Given the description of an element on the screen output the (x, y) to click on. 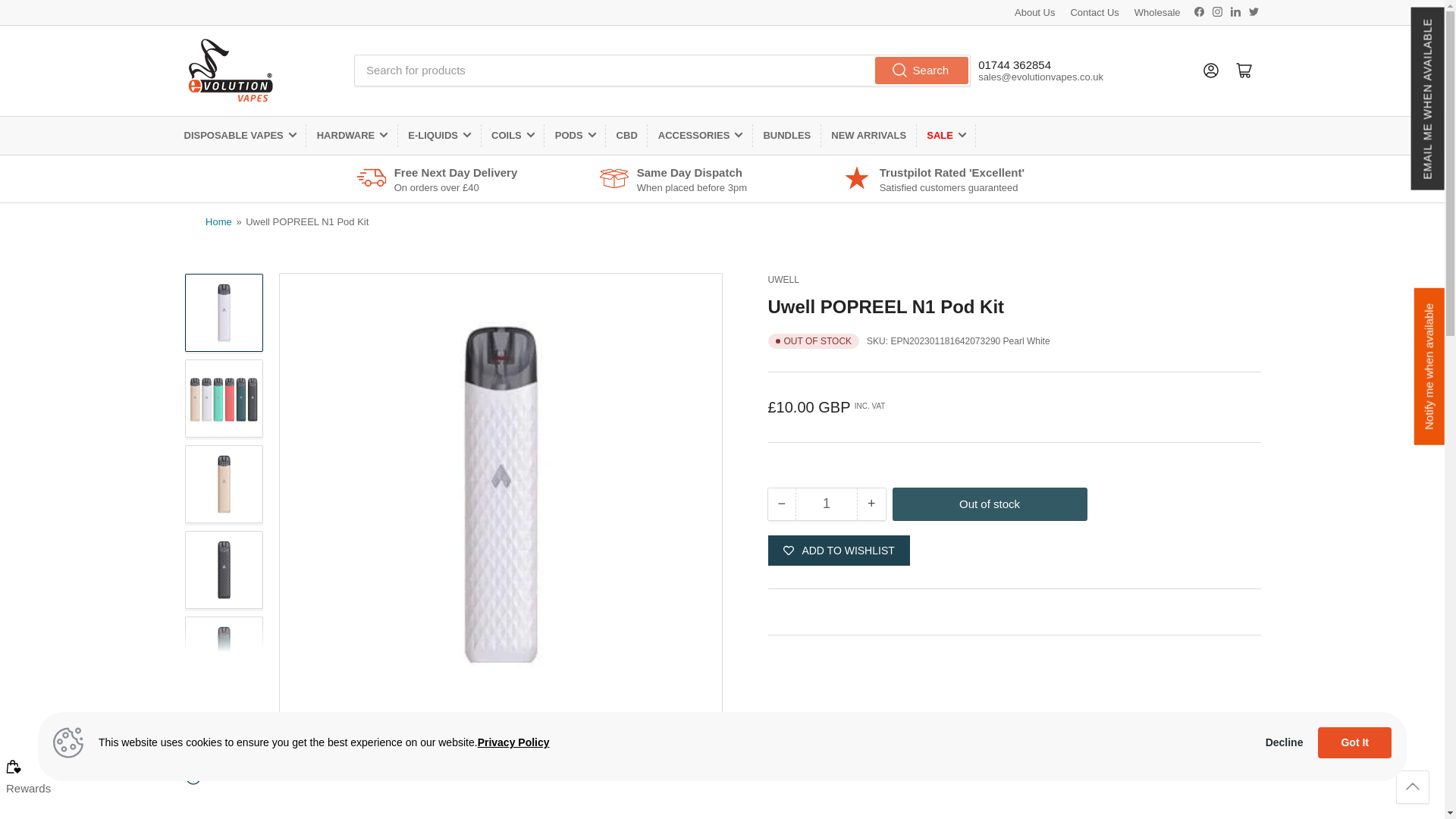
Privacy Policy (513, 742)
Contact Us (1094, 12)
Twitter (1253, 11)
Log in (1210, 70)
About Us (1034, 12)
Open mini cart (1243, 70)
Facebook (1199, 11)
LinkedIn (1235, 11)
Instagram (1216, 11)
Uwell (782, 279)
Search (922, 70)
1 (825, 504)
Wholesale (1157, 12)
